Given the description of an element on the screen output the (x, y) to click on. 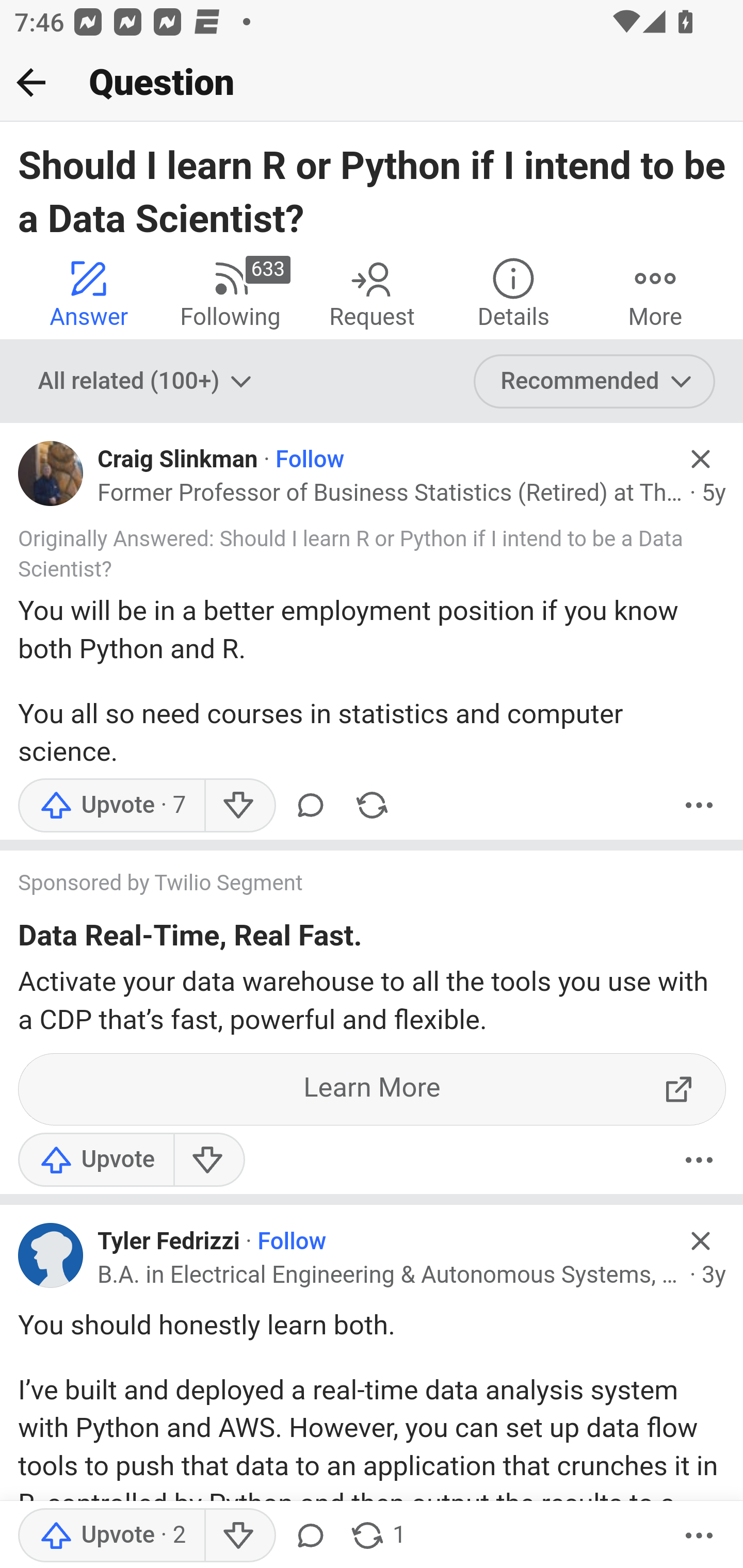
Back Question (371, 82)
Back (30, 82)
Answer (88, 292)
633 Following (230, 292)
Request (371, 292)
Details (513, 292)
More (655, 292)
All related (100+) (146, 381)
Recommended (594, 381)
Hide (700, 459)
Profile photo for Craig Slinkman (50, 473)
Craig Slinkman (177, 459)
Follow (309, 459)
5y 5 y (713, 493)
Upvote (111, 804)
Downvote (238, 804)
Comment (310, 804)
Share (372, 804)
More (699, 804)
Sponsored by Twilio Segment (352, 884)
Data Real-Time, Real Fast. (189, 939)
Learn More ExternalLink (372, 1090)
Upvote (95, 1160)
Downvote (208, 1160)
More (699, 1160)
Hide (700, 1240)
Profile photo for Tyler Fedrizzi (50, 1255)
Tyler Fedrizzi (168, 1241)
Follow (291, 1241)
3y 3 y (713, 1274)
Upvote (111, 1535)
Downvote (238, 1535)
Comment (310, 1535)
1 share (377, 1535)
More (699, 1535)
